Given the description of an element on the screen output the (x, y) to click on. 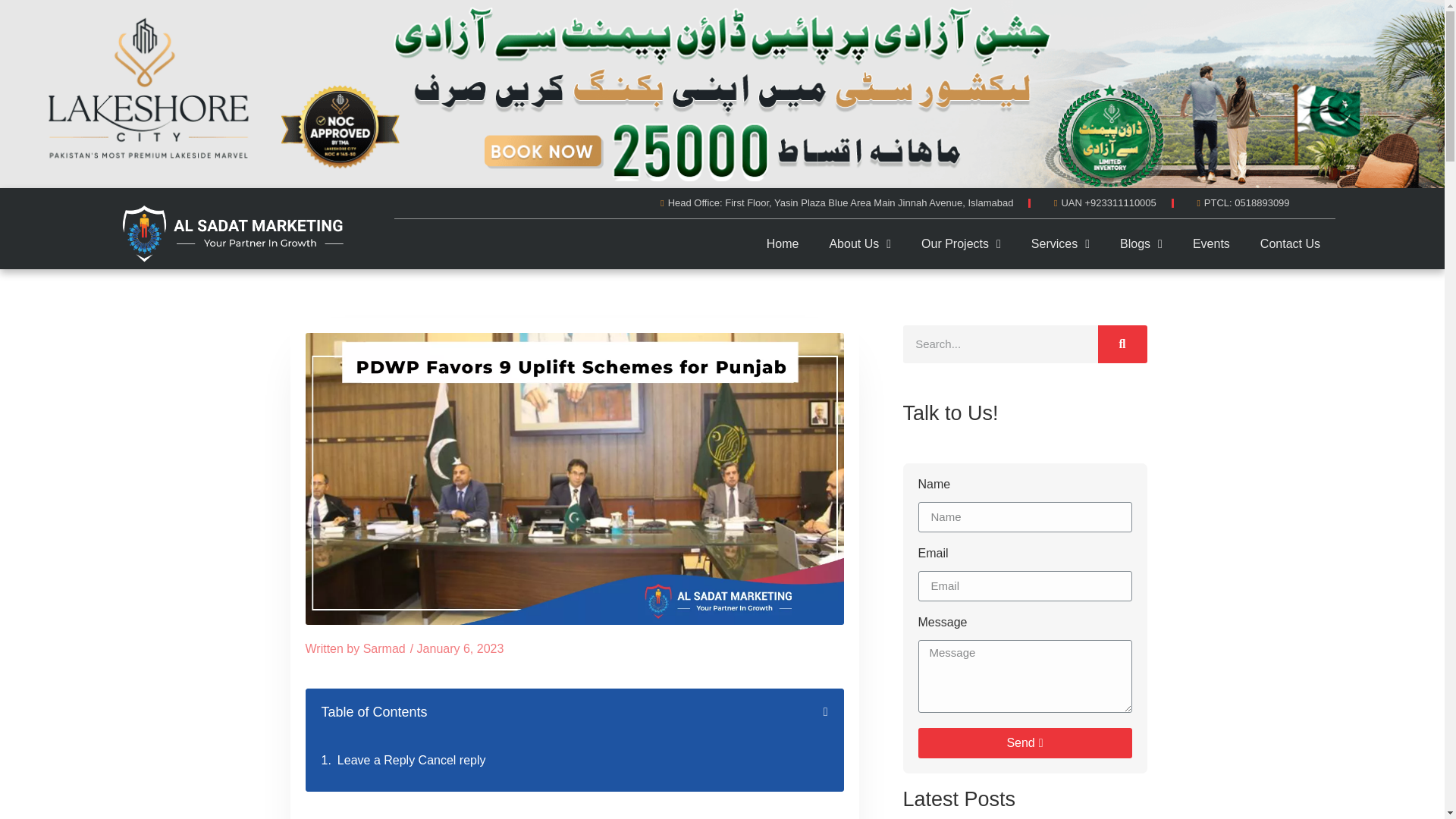
Our Projects (961, 271)
Search (999, 344)
About Us (859, 291)
Search (1122, 344)
Home (783, 297)
PTCL: 0518893099 (1239, 259)
